Given the description of an element on the screen output the (x, y) to click on. 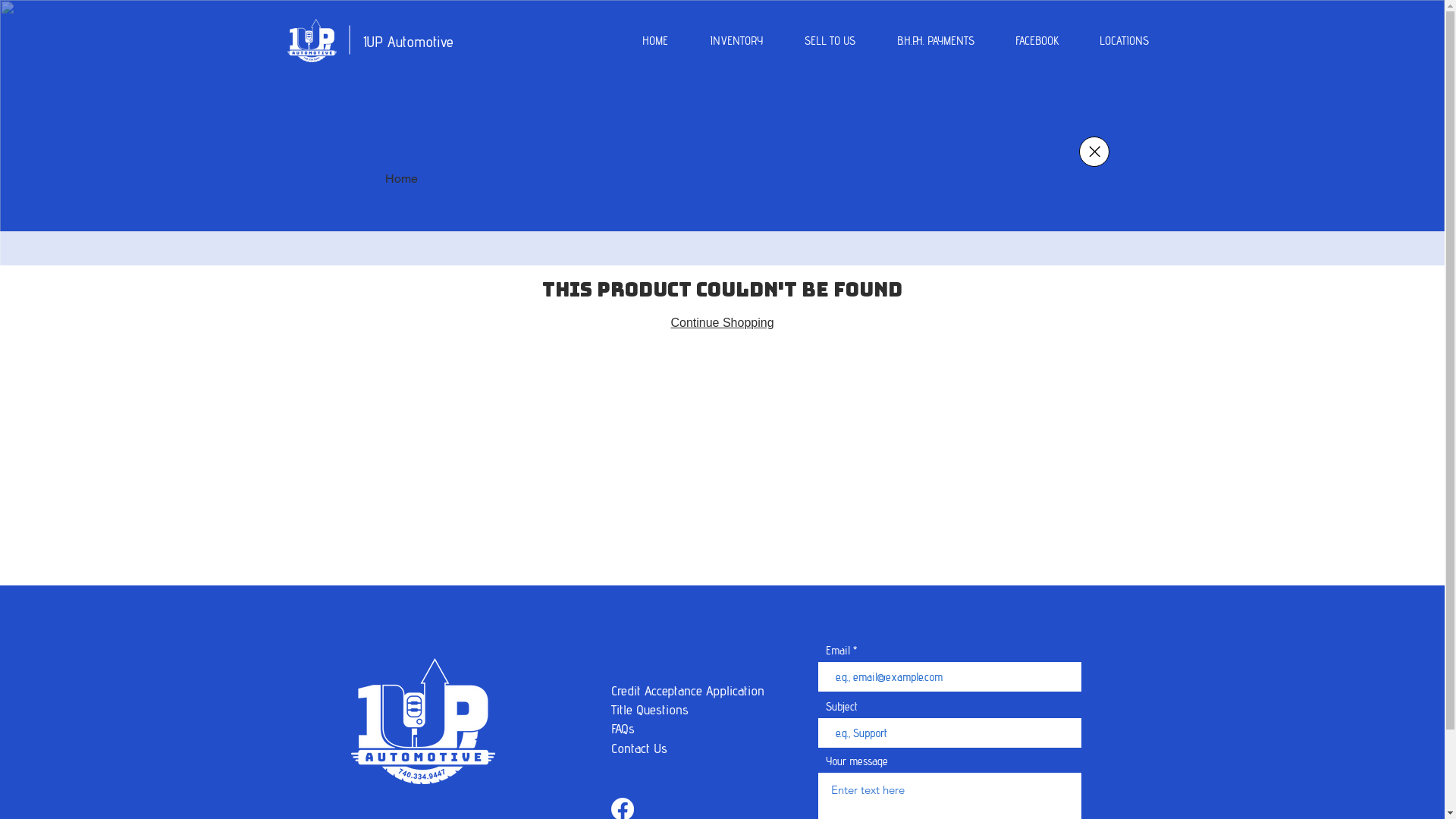
B.H.P.H. PAYMENTS Element type: text (923, 40)
HOME Element type: text (642, 40)
LOCATIONS Element type: text (1112, 40)
FACEBOOK Element type: text (1025, 40)
INVENTORY Element type: text (724, 40)
Contact Us Element type: text (639, 748)
1UP Automotive Element type: text (407, 41)
Title Questions  Element type: text (651, 709)
Credit Acceptance Application Element type: text (687, 690)
SELL TO US Element type: text (817, 40)
Home Element type: text (401, 178)
Continue Shopping Element type: text (721, 322)
